Given the description of an element on the screen output the (x, y) to click on. 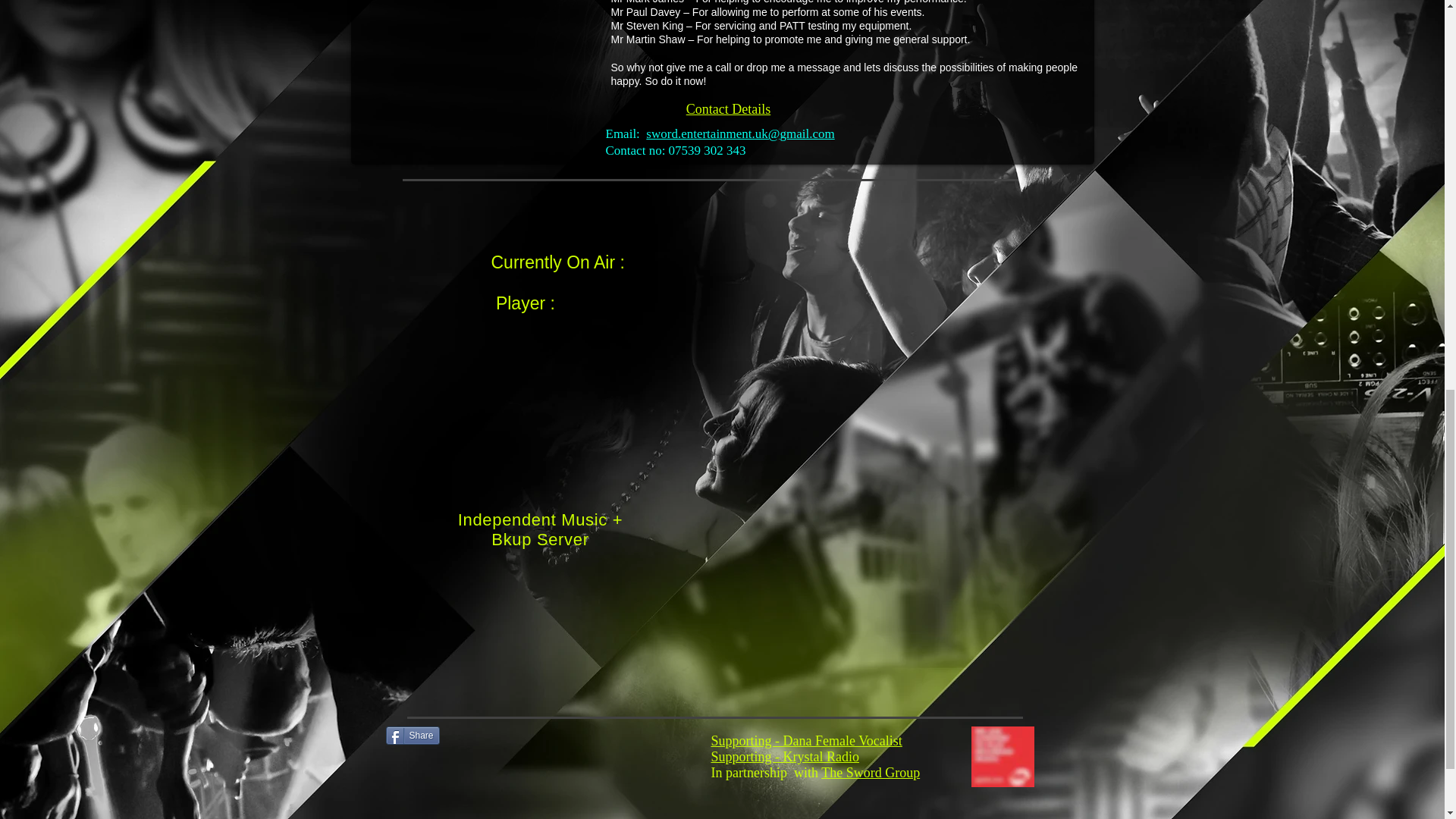
The Sword Group (870, 772)
Share (412, 735)
Supporting - Dana Female Vocalist (806, 740)
Twitter Follow (527, 734)
Supporting - Krystal Radio (785, 756)
Share (412, 735)
